Given the description of an element on the screen output the (x, y) to click on. 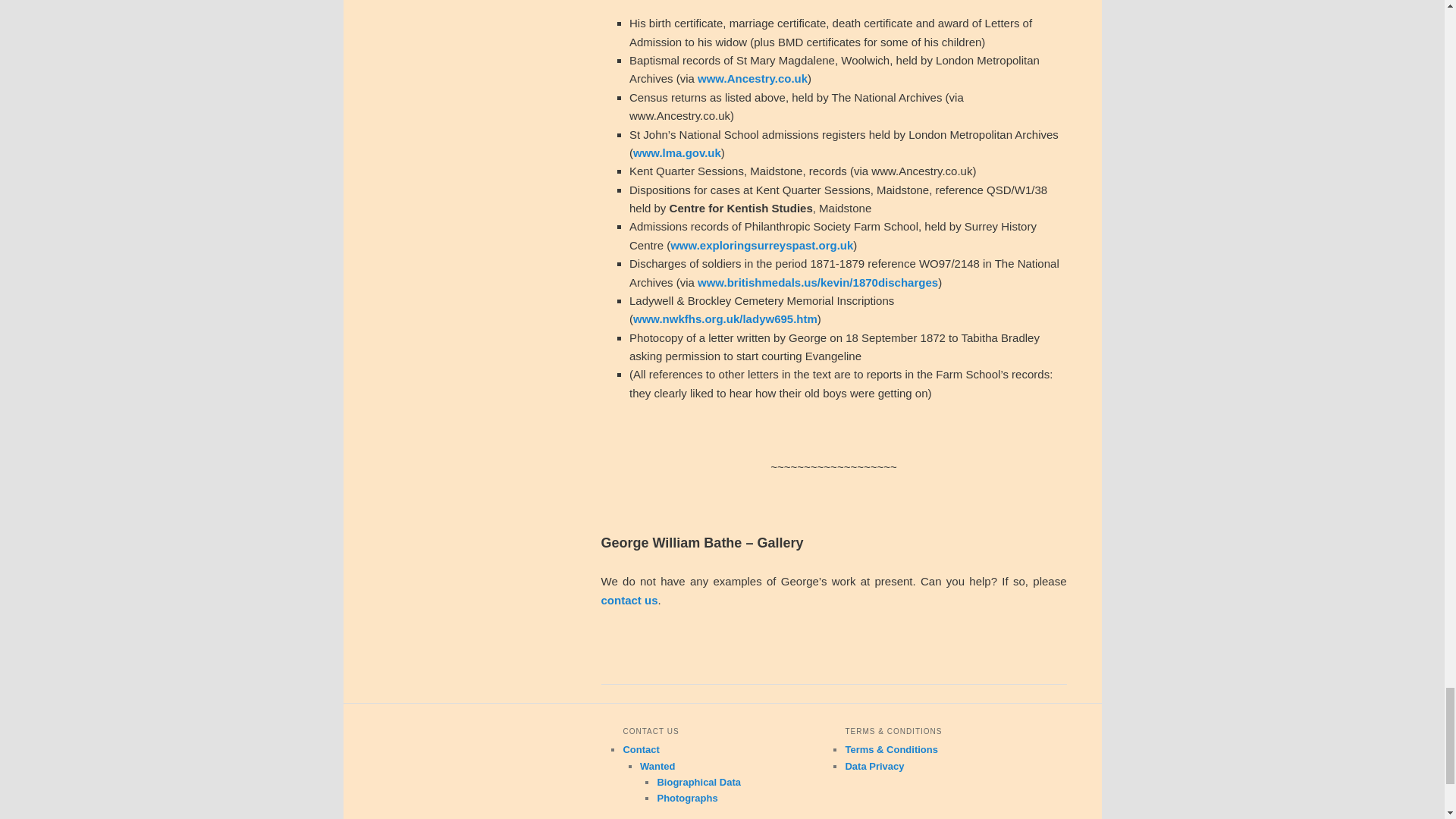
Link to Contact Us page (628, 599)
Link to London Metropolitan Archives website (676, 152)
Link to British Medals website (817, 282)
Link to Ancestry Website (752, 78)
Link to Surrey History Centre (761, 245)
